Given the description of an element on the screen output the (x, y) to click on. 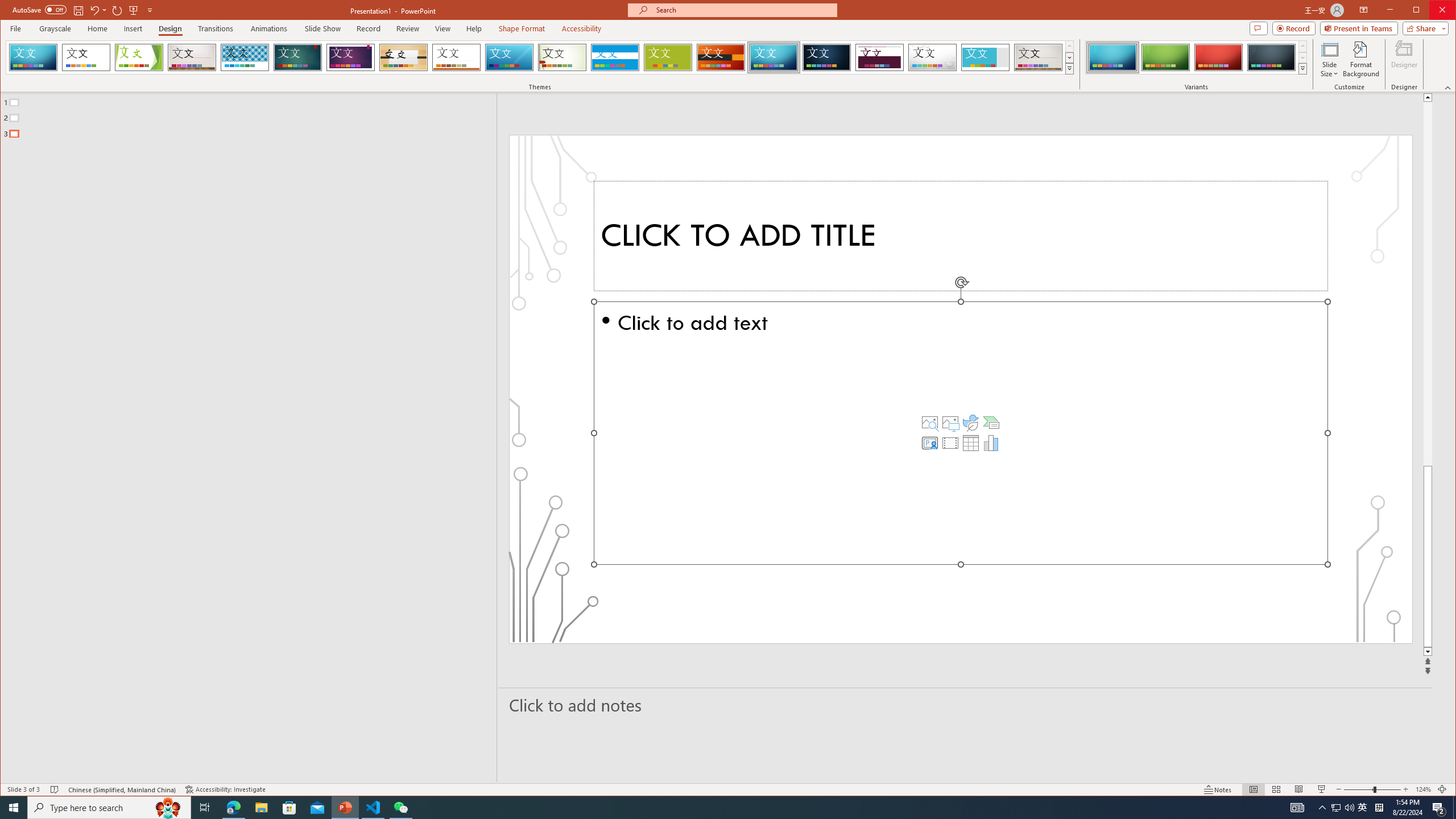
User Promoted Notification Area (1342, 807)
Action Center, 2 new notifications (1439, 807)
Slide Notes (965, 704)
Class: NetUIImage (1302, 68)
Stock Images (929, 422)
Class: MsoCommandBar (728, 789)
Format Background (1360, 59)
Microsoft search (742, 10)
Themes (1069, 68)
Maximize (1432, 11)
Droplet (932, 57)
Transitions (215, 28)
Close (1444, 11)
